Given the description of an element on the screen output the (x, y) to click on. 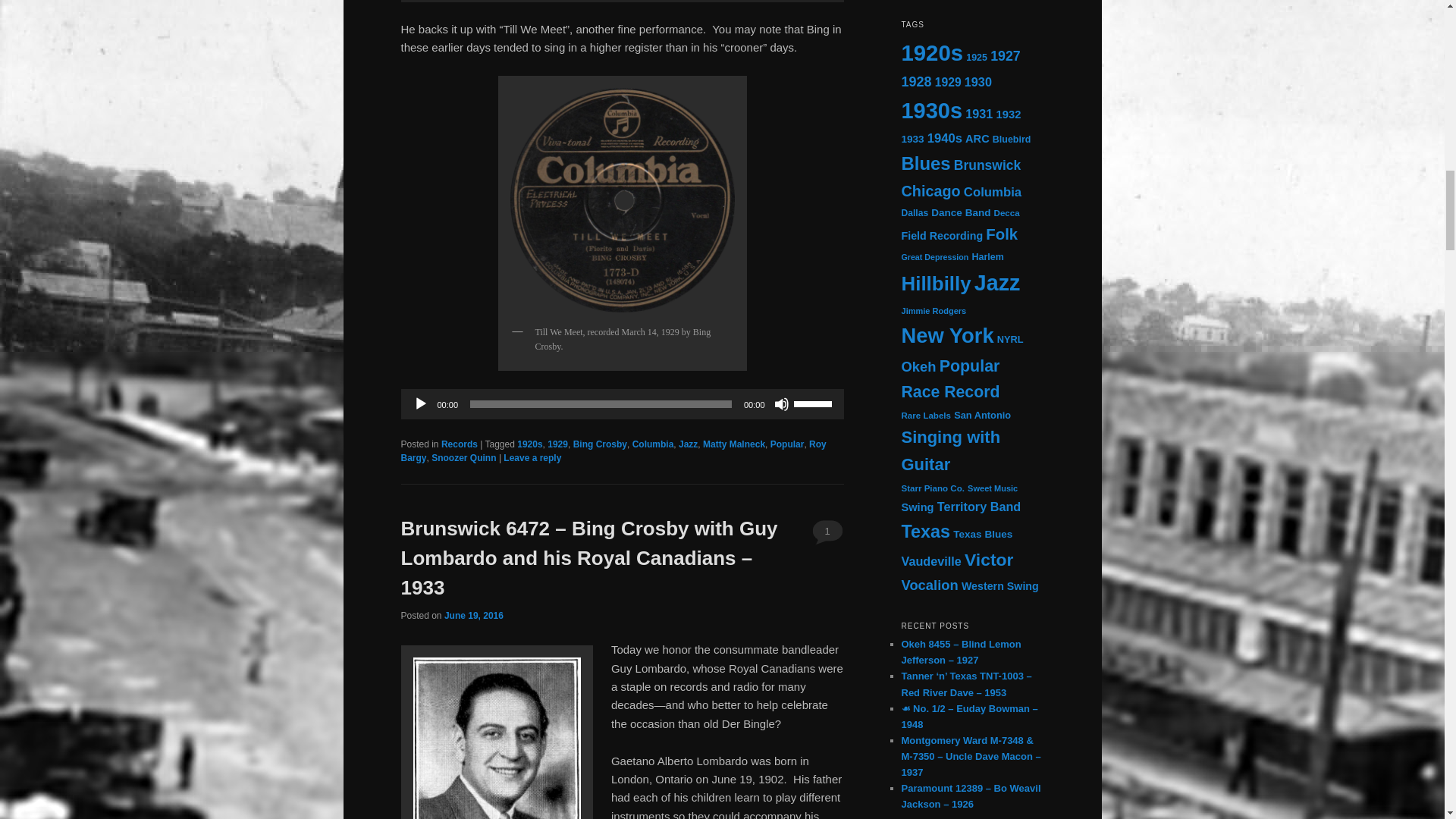
Mute (781, 403)
Play (420, 403)
10:39 pm (473, 615)
